Given the description of an element on the screen output the (x, y) to click on. 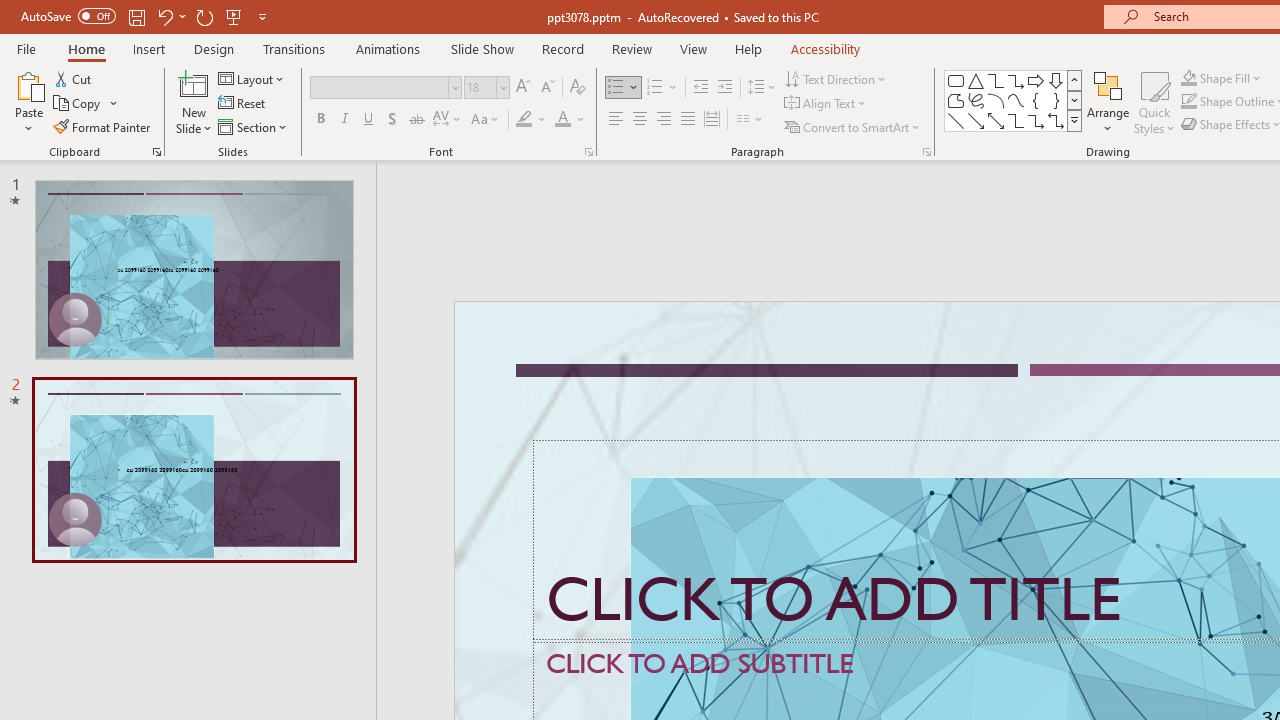
Line Arrow: Double (995, 120)
